Given the description of an element on the screen output the (x, y) to click on. 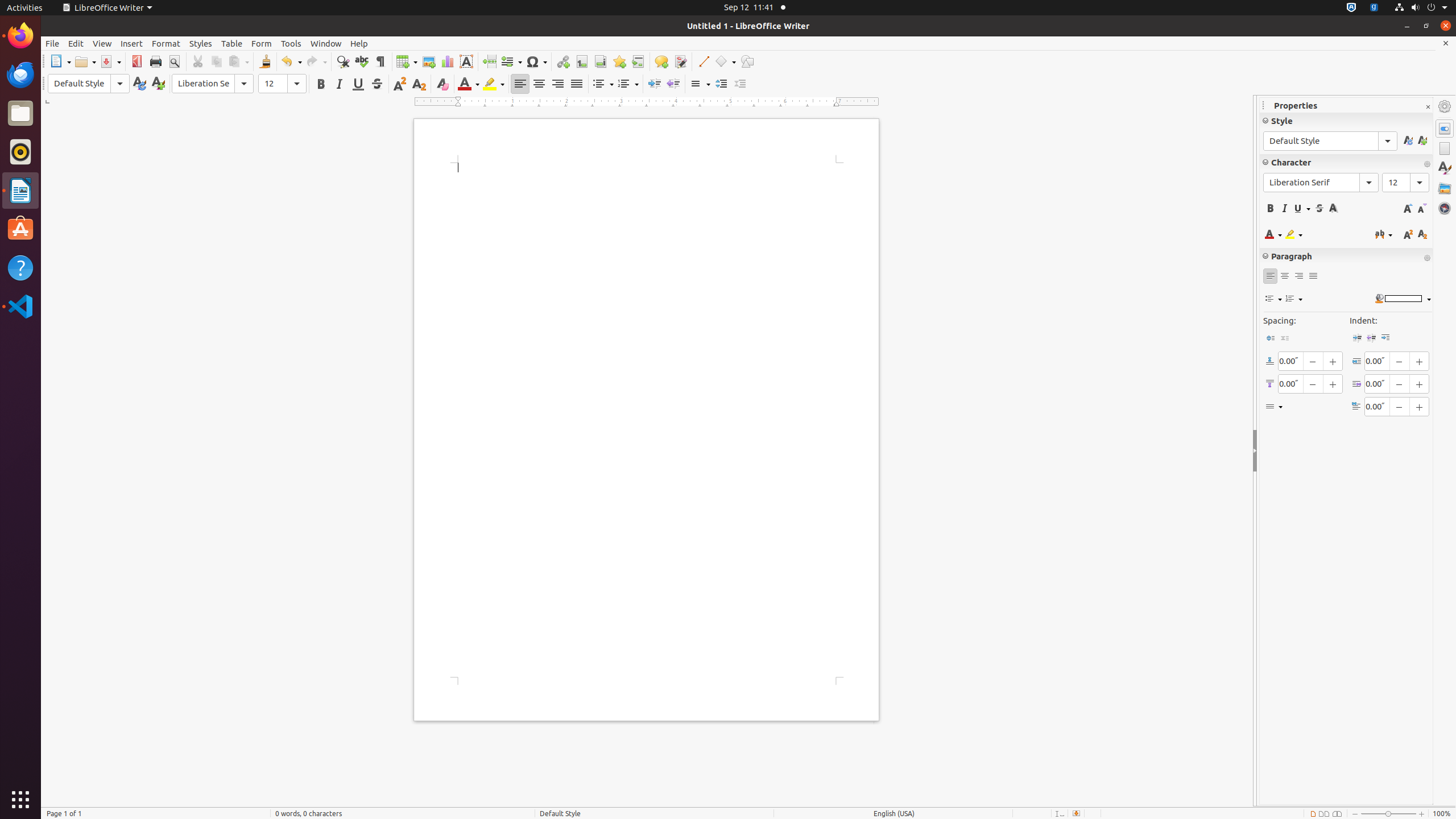
Form Element type: menu (261, 43)
Tools Element type: menu (290, 43)
Text Box Element type: push-button (465, 61)
Character Spacing Element type: push-button (1383, 234)
Print Preview Element type: toggle-button (173, 61)
